Given the description of an element on the screen output the (x, y) to click on. 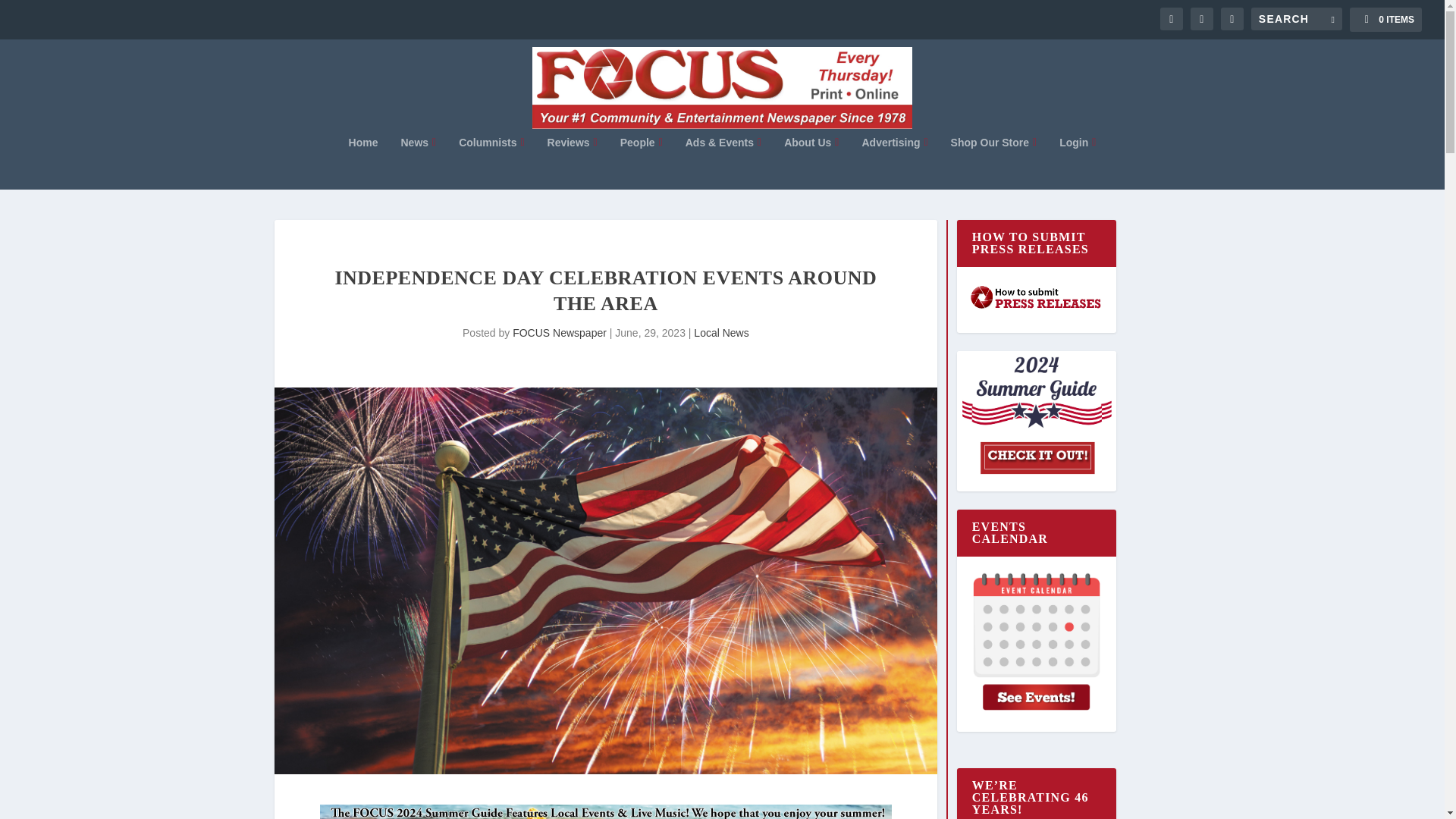
Reviews (571, 162)
Home (363, 162)
News (417, 162)
Advertising (894, 162)
People (641, 162)
Posts by FOCUS Newspaper (559, 332)
Shop Our Store (993, 162)
Login (1077, 162)
Columnists (491, 162)
About Us (811, 162)
0 Items in Cart (1385, 19)
0 ITEMS (1385, 19)
Search for: (1296, 18)
